Given the description of an element on the screen output the (x, y) to click on. 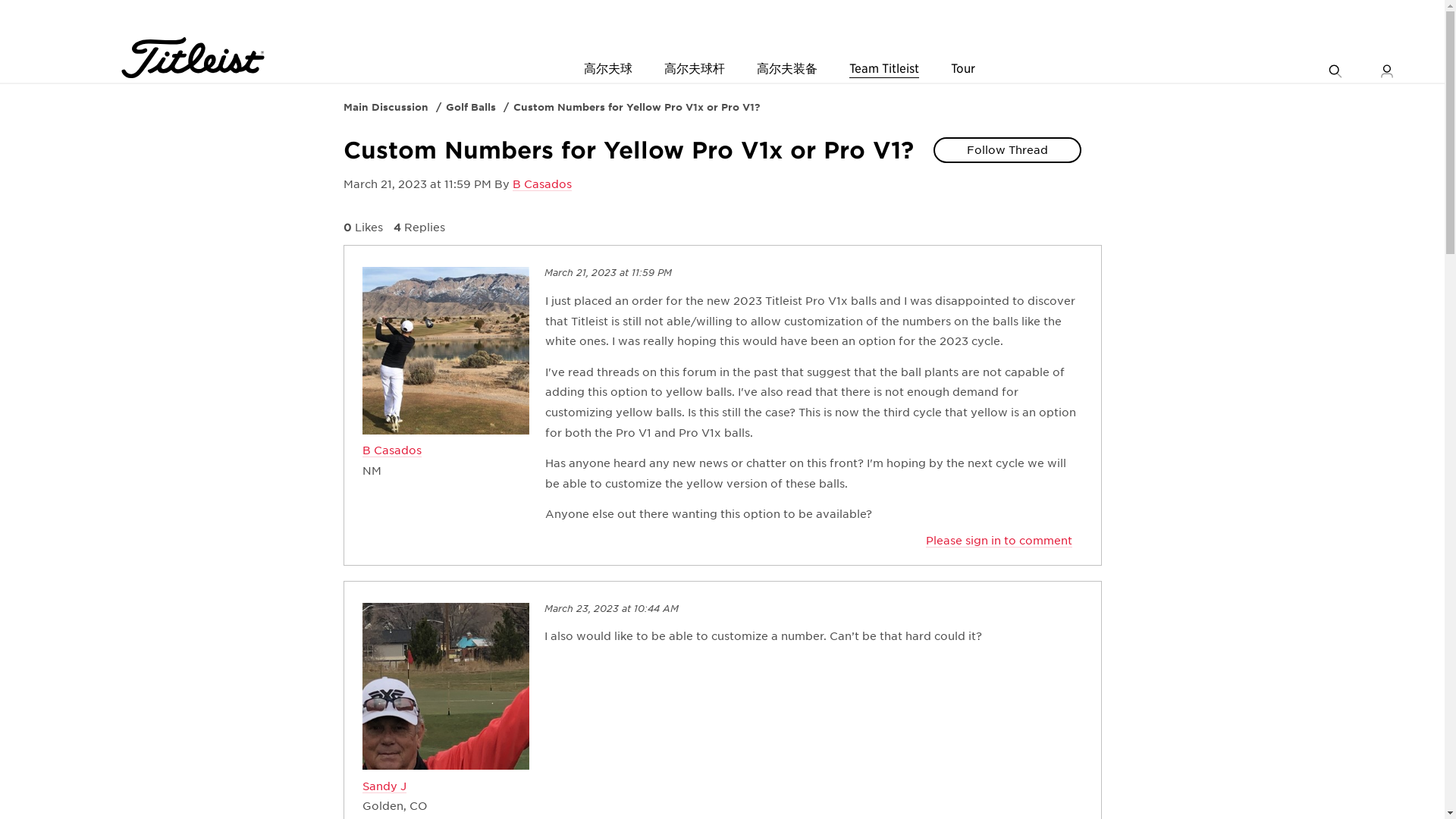
Tour (962, 69)
B Casados (542, 184)
Golf Balls (470, 107)
B Casados (392, 450)
Team Titleist (883, 69)
Main Discussion (385, 107)
Please sign in to comment (997, 540)
Sandy J (384, 786)
Follow Thread (1007, 149)
